Given the description of an element on the screen output the (x, y) to click on. 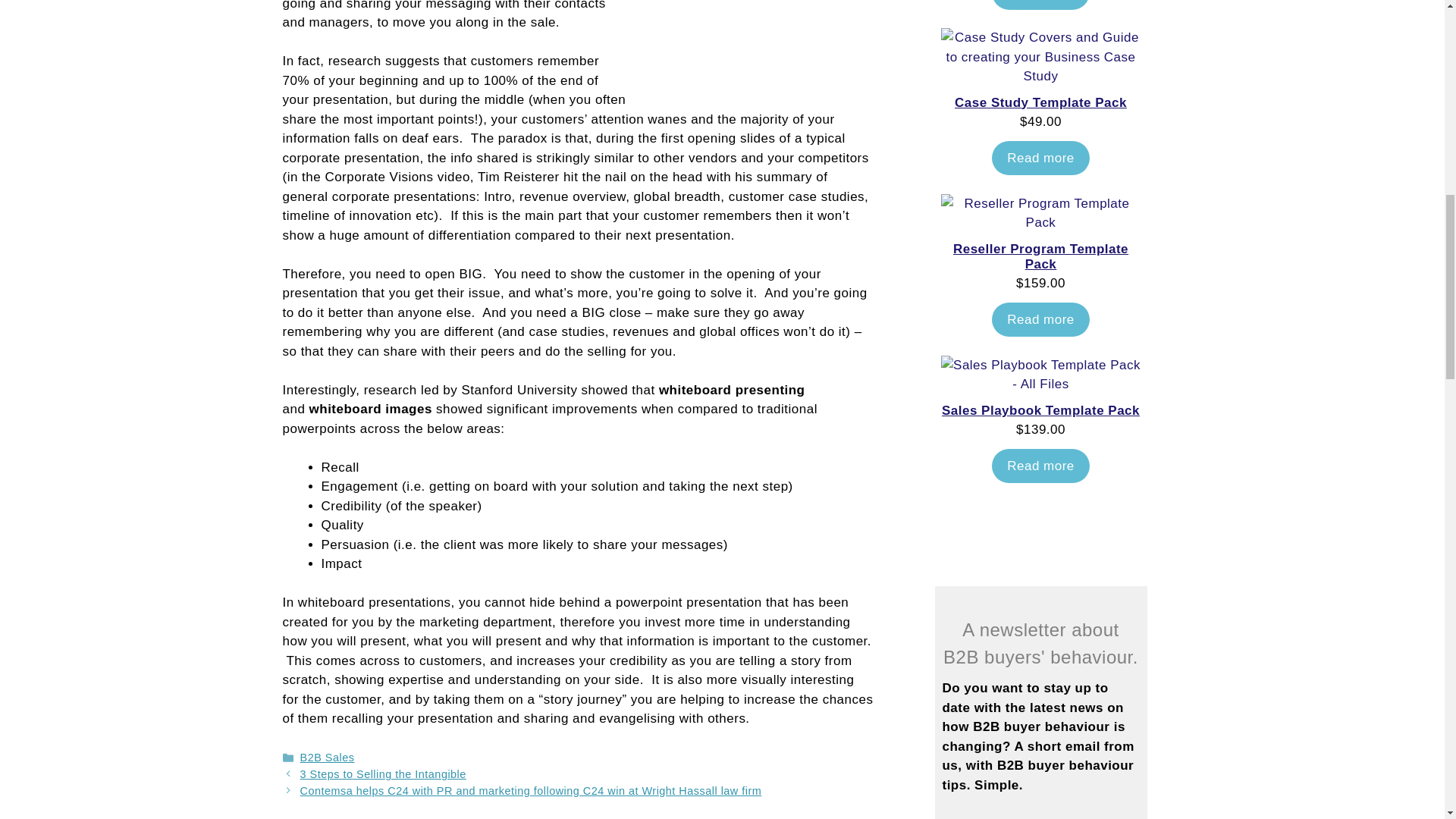
B2B Sales (327, 757)
Previous (382, 774)
Read more (1040, 4)
Next (530, 790)
3 Steps to Selling the Intangible (382, 774)
